Given the description of an element on the screen output the (x, y) to click on. 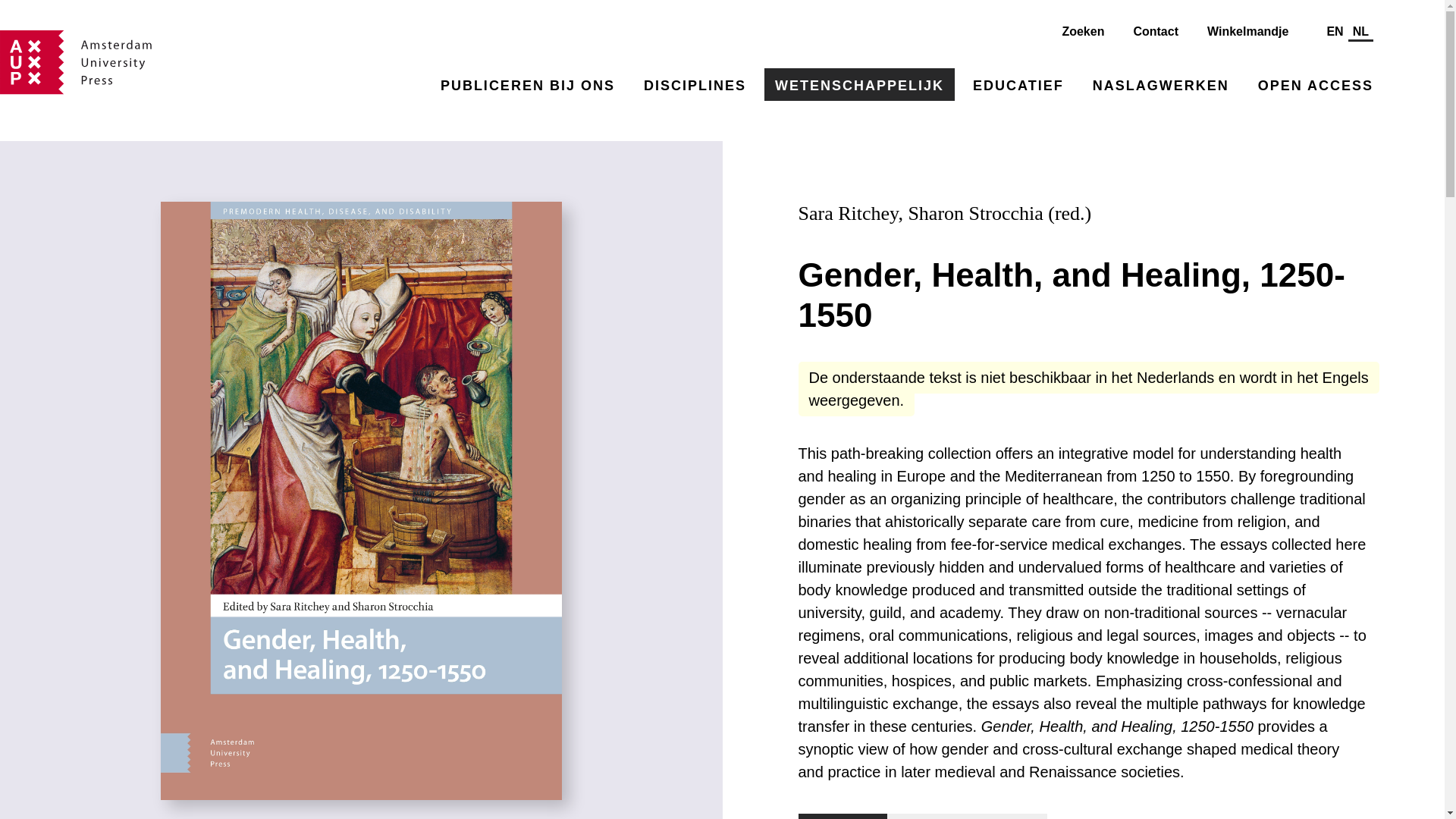
DISCIPLINES (695, 83)
NASLAGWERKEN (1160, 83)
Amsterdam University Press (75, 62)
EDUCATIEF (1018, 83)
PUBLICEREN BIJ ONS (527, 83)
WETENSCHAPPELIJK (859, 83)
